Given the description of an element on the screen output the (x, y) to click on. 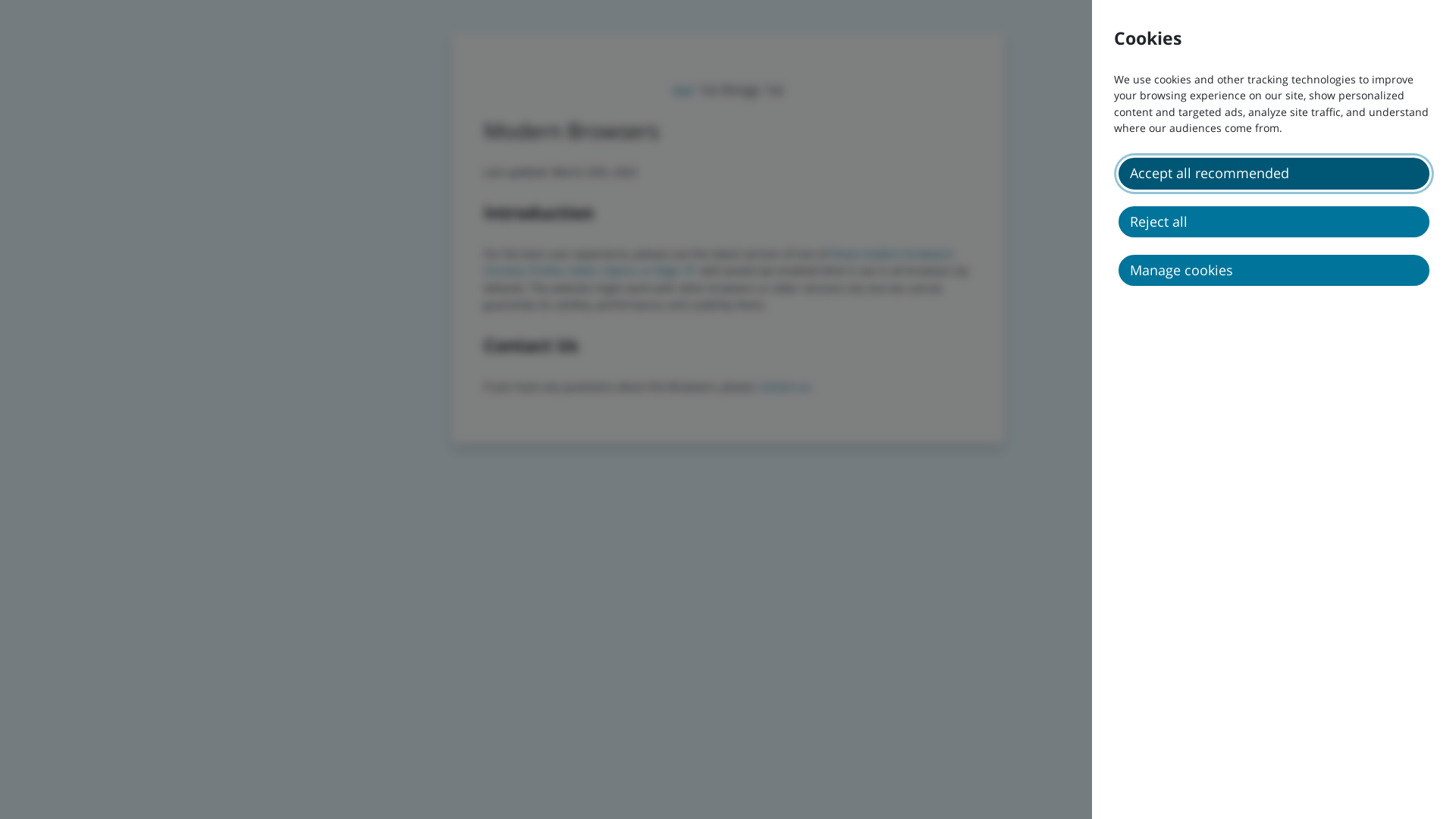
Reject all Element type: text (1273, 221)
our 1st things 1st Element type: text (727, 89)
Accept all recommended Element type: text (1273, 173)
Manage cookies Element type: text (1273, 270)
contact us Element type: text (783, 386)
